Given the description of an element on the screen output the (x, y) to click on. 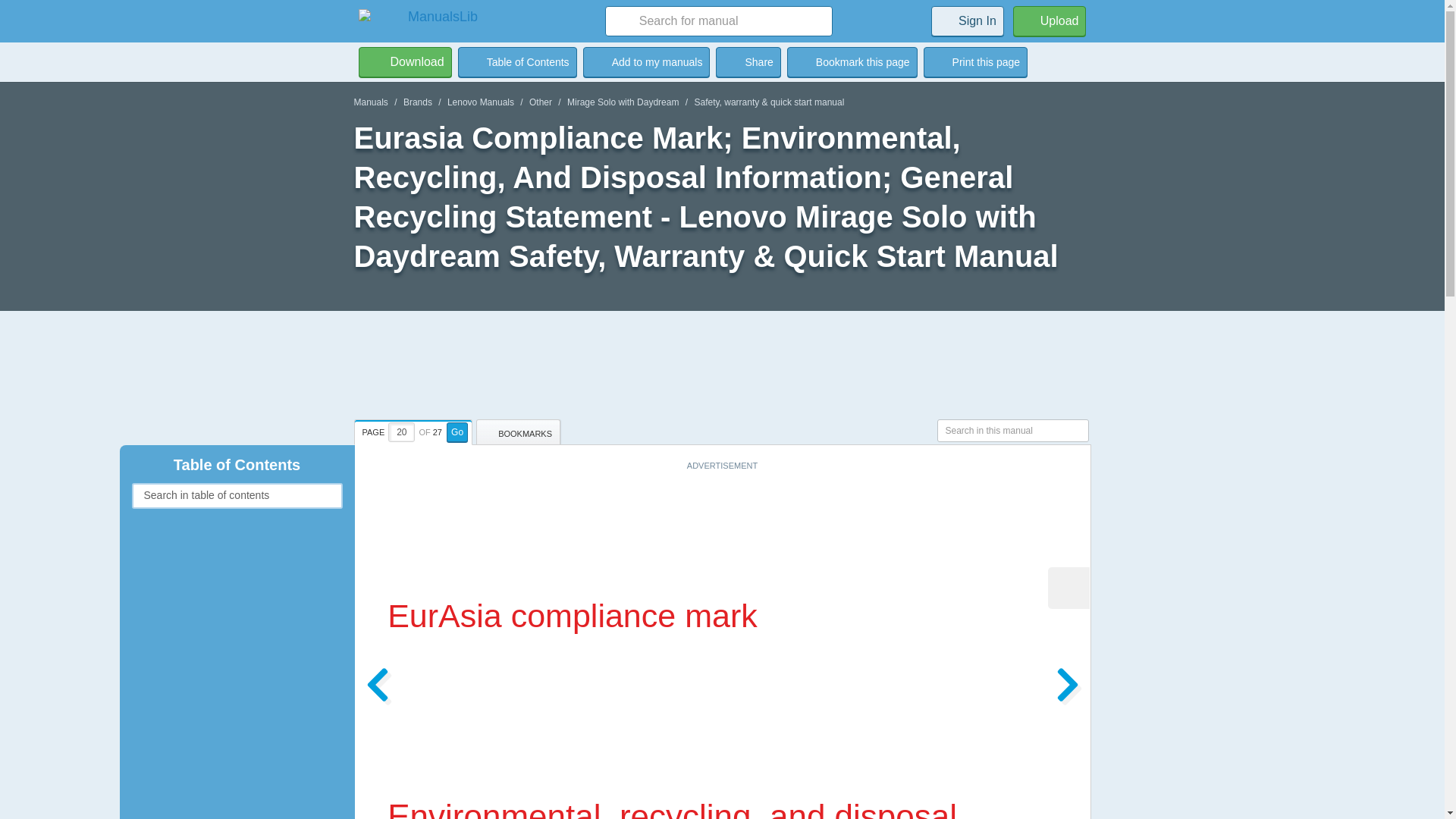
Manuals (370, 102)
Share (748, 61)
Brands (417, 102)
Print this page (975, 61)
Share this manual (748, 61)
Bookmark this page (852, 61)
Download this manual (404, 61)
Lenovo Manuals (479, 102)
20 (401, 432)
Download (404, 61)
Add to my manuals (646, 61)
Mirage Solo with Daydream (622, 102)
Sign In (967, 20)
Print this page (975, 61)
Table of Contents (517, 61)
